Given the description of an element on the screen output the (x, y) to click on. 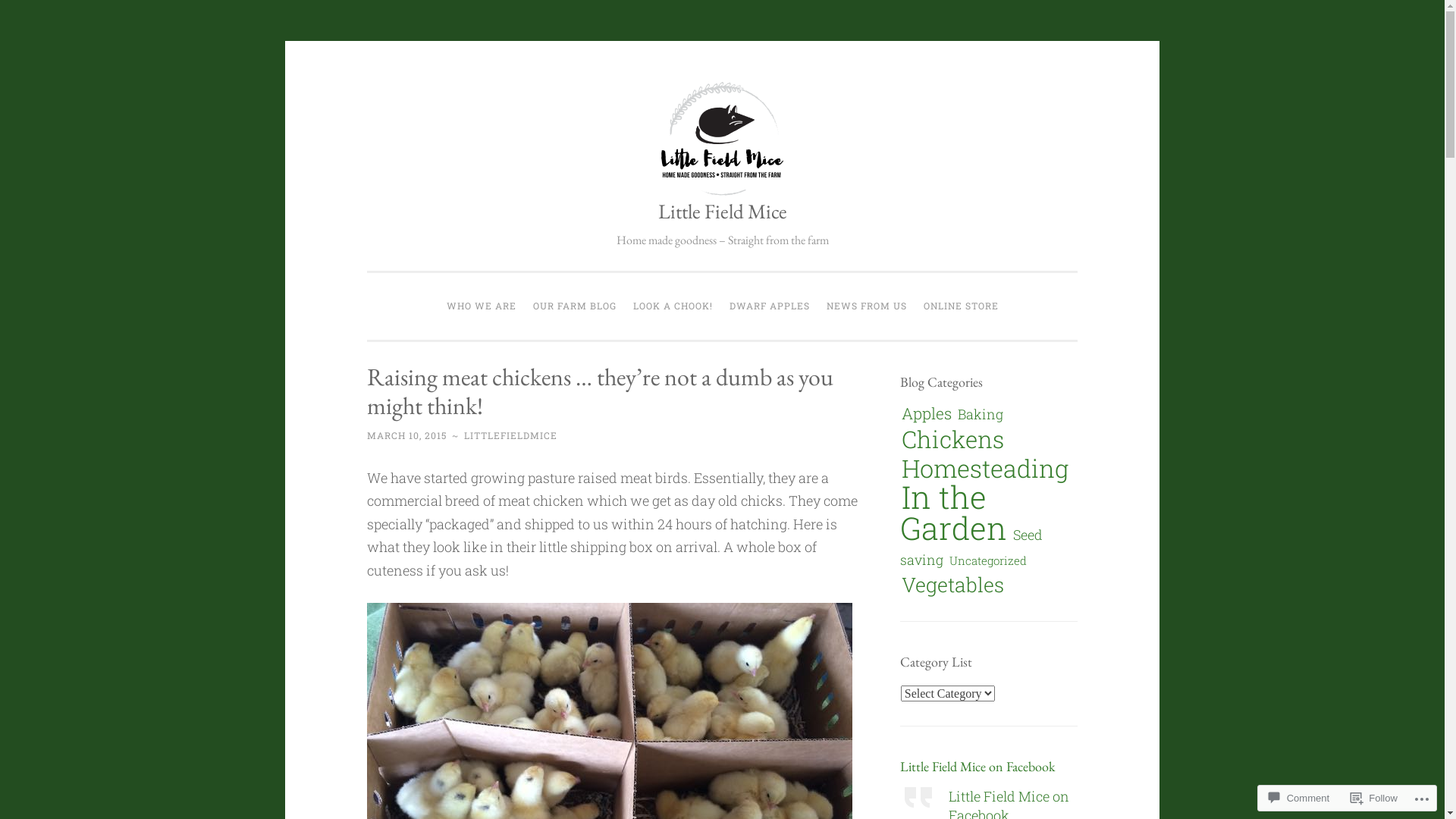
Vegetables Element type: text (952, 584)
Apples Element type: text (926, 412)
WHO WE ARE Element type: text (481, 306)
DWARF APPLES Element type: text (768, 306)
Little Field Mice on Facebook Element type: text (977, 766)
Follow Element type: text (1373, 797)
Little Field Mice Element type: text (722, 210)
OUR FARM BLOG Element type: text (574, 306)
Comment Element type: text (1298, 797)
Baking Element type: text (980, 413)
Uncategorized Element type: text (987, 560)
MARCH 10, 2015 Element type: text (406, 435)
LITTLEFIELDMICE Element type: text (510, 435)
Search Element type: text (39, 17)
Homesteading Element type: text (984, 468)
Seed saving Element type: text (971, 546)
Chickens Element type: text (952, 438)
ONLINE STORE Element type: text (960, 306)
LOOK A CHOOK! Element type: text (672, 306)
In the Garden Element type: text (953, 512)
NEWS FROM US Element type: text (866, 306)
